Given the description of an element on the screen output the (x, y) to click on. 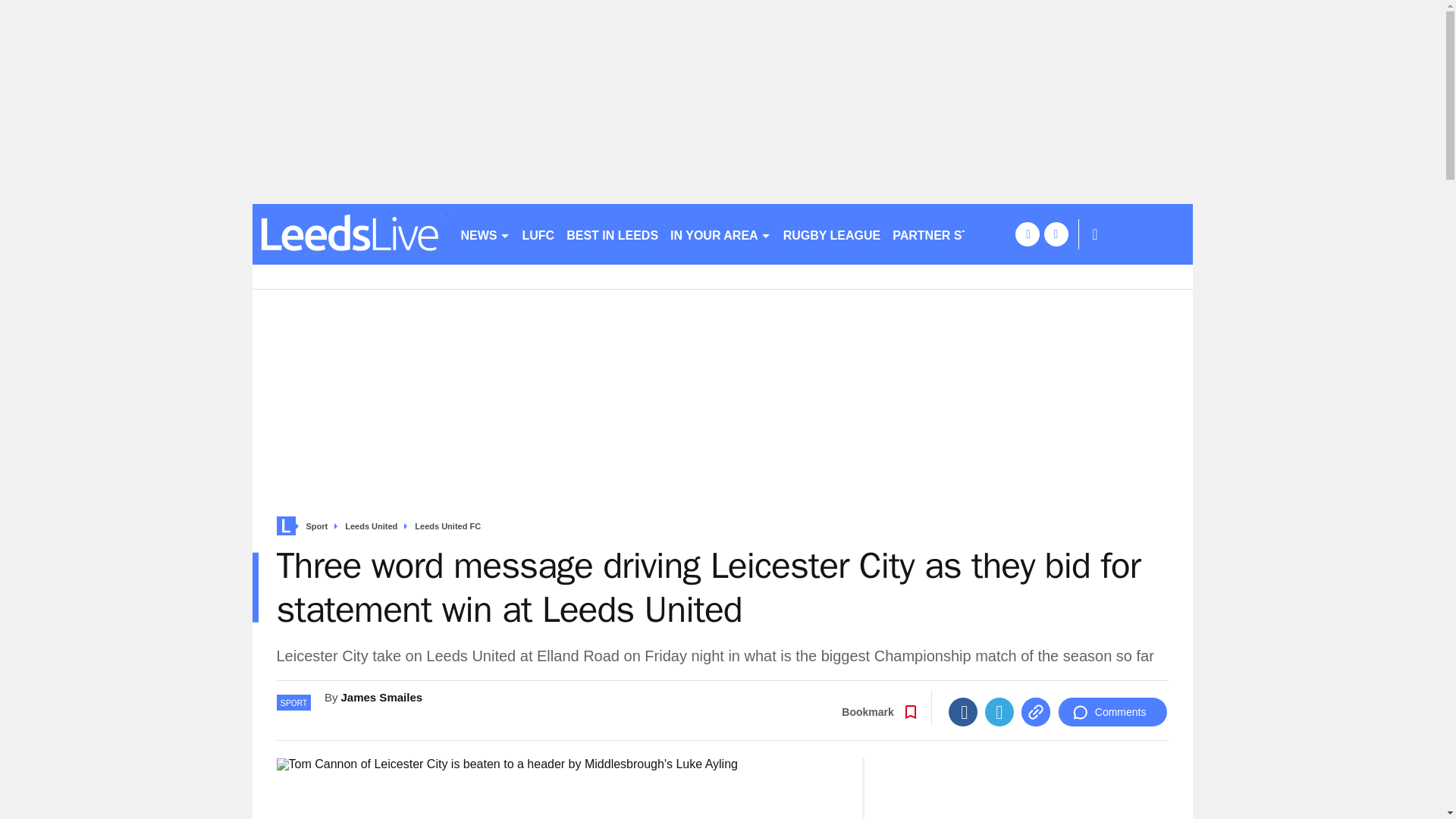
Comments (1112, 711)
facebook (1026, 233)
PARTNER STORIES (949, 233)
NEWS (485, 233)
leedslive (348, 233)
twitter (1055, 233)
BEST IN LEEDS (611, 233)
IN YOUR AREA (720, 233)
Facebook (962, 711)
Twitter (999, 711)
